Given the description of an element on the screen output the (x, y) to click on. 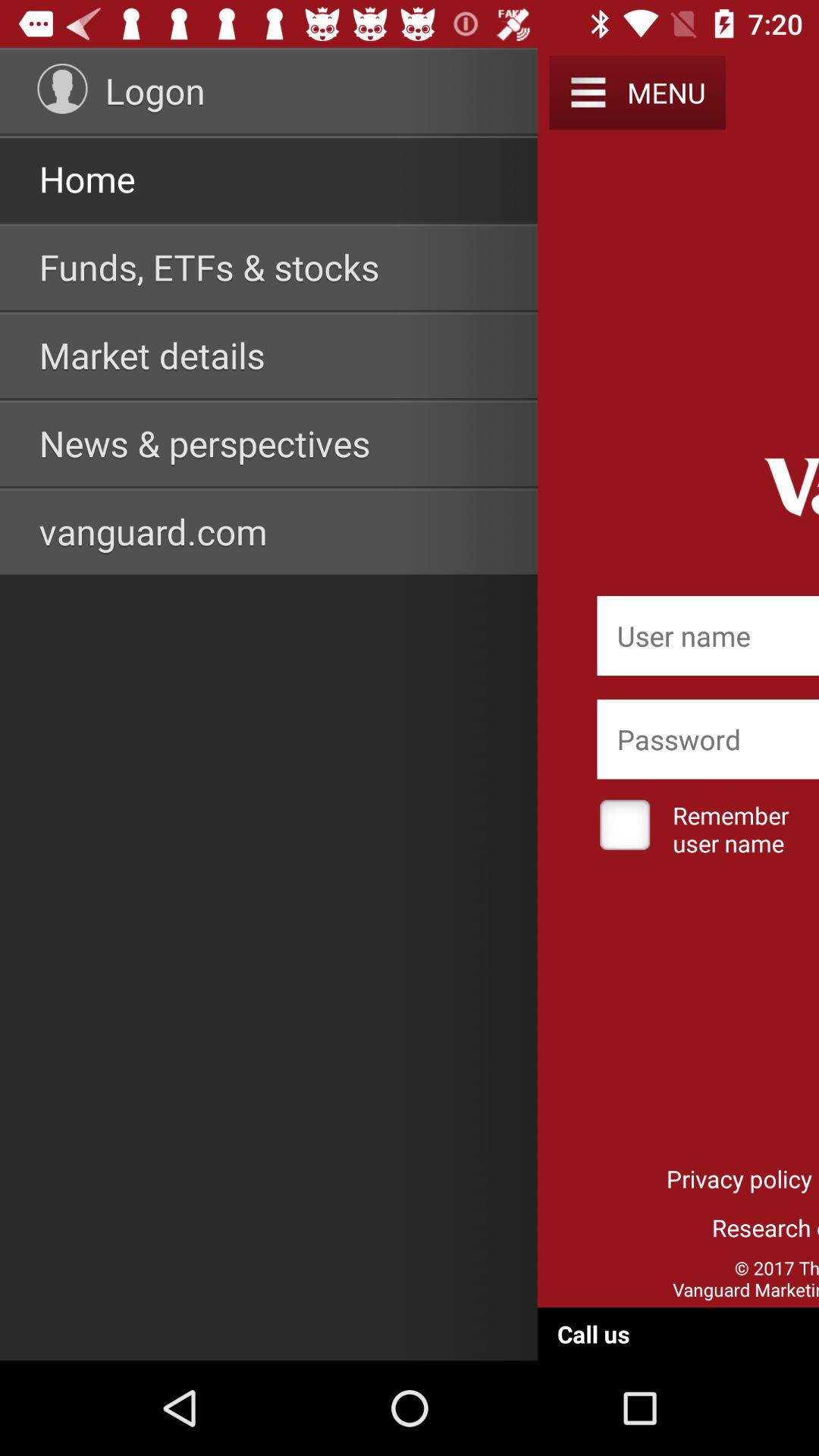
flip until home app (87, 178)
